Given the description of an element on the screen output the (x, y) to click on. 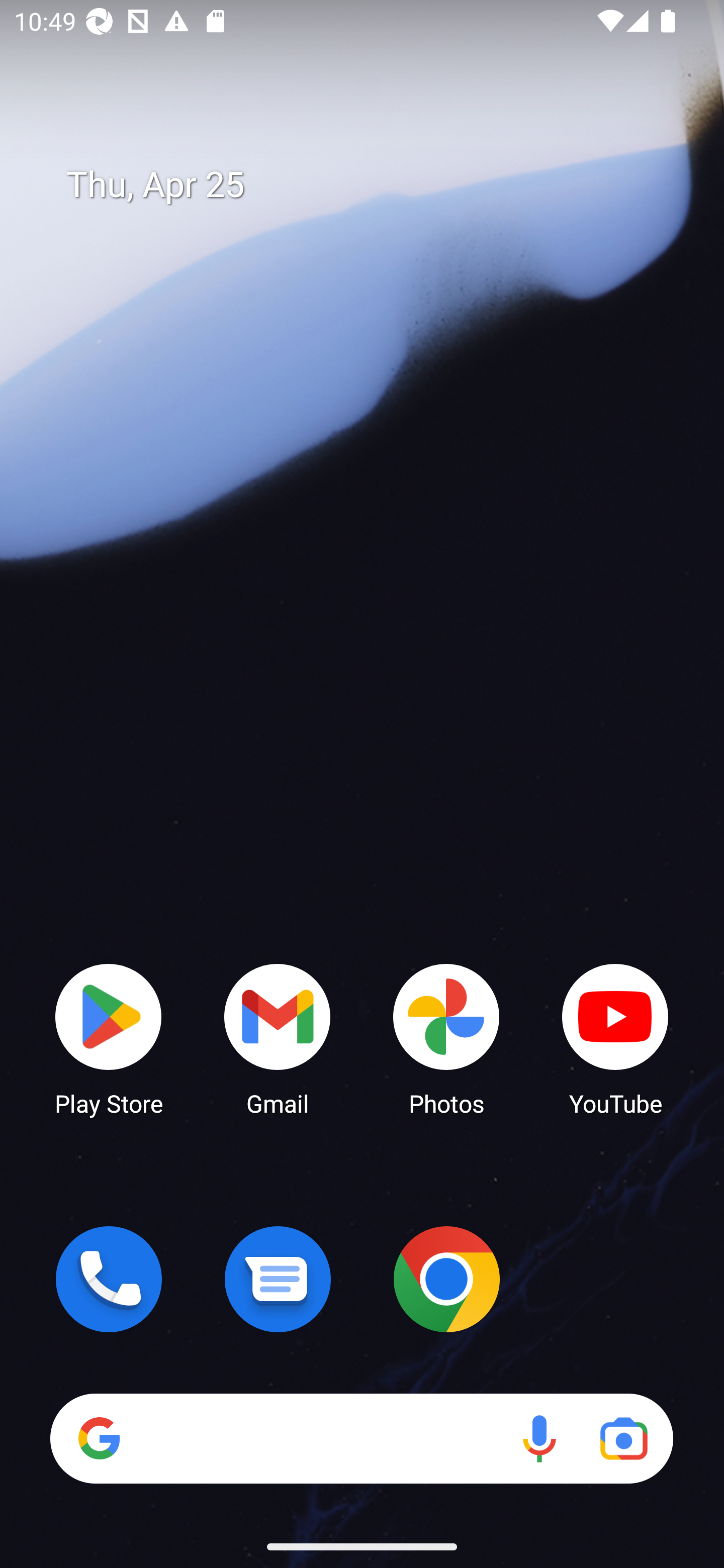
Thu, Apr 25 (375, 184)
Play Store (108, 1038)
Gmail (277, 1038)
Photos (445, 1038)
YouTube (615, 1038)
Phone (108, 1279)
Messages (277, 1279)
Chrome (446, 1279)
Search Voice search Google Lens (361, 1438)
Voice search (539, 1438)
Google Lens (623, 1438)
